Given the description of an element on the screen output the (x, y) to click on. 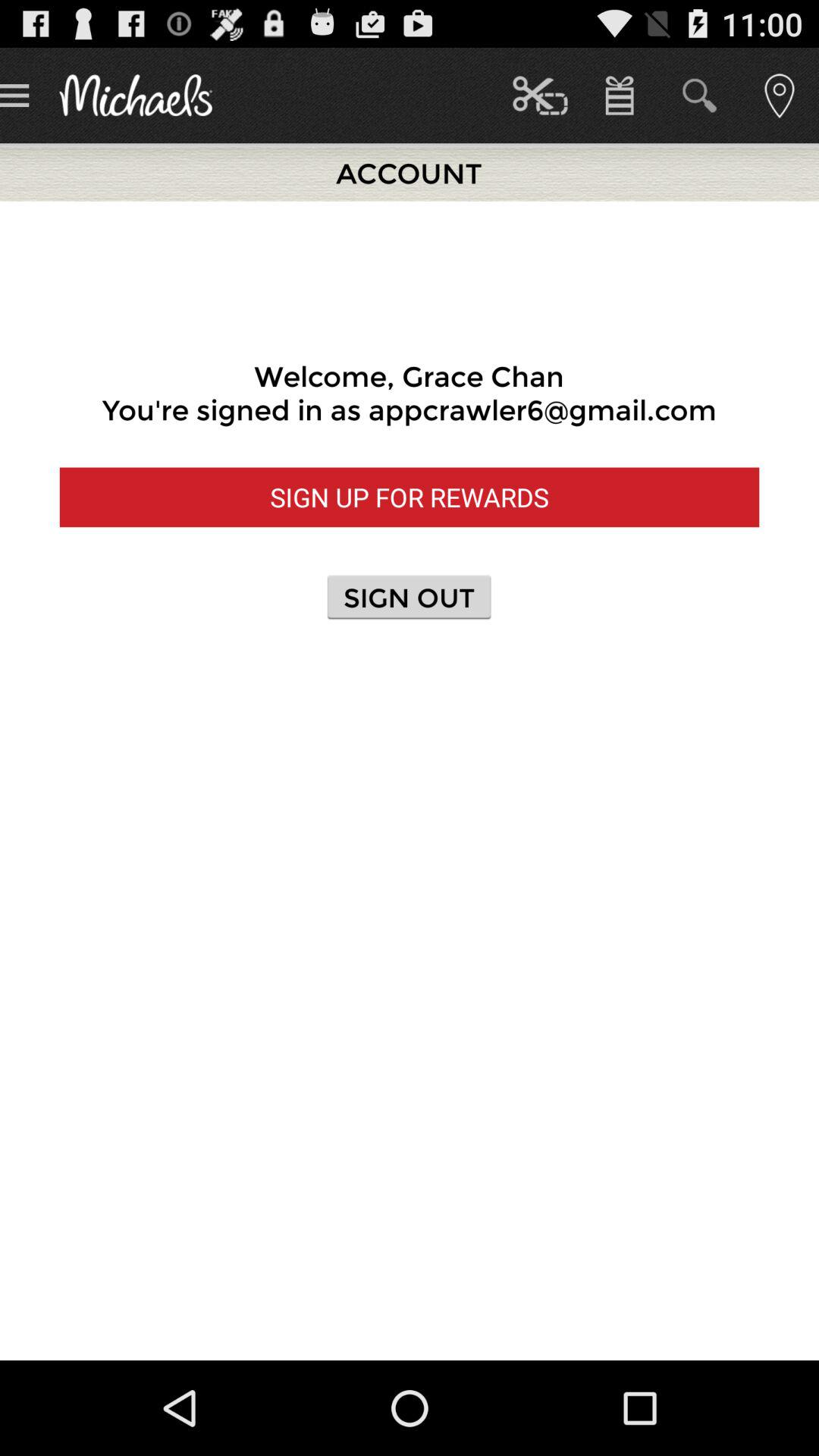
click the cut icon (539, 95)
move to the box above sign out (409, 497)
click the tip right place holder icon (779, 95)
click on second icon which is at top right corner (699, 95)
sign out (409, 597)
